Given the description of an element on the screen output the (x, y) to click on. 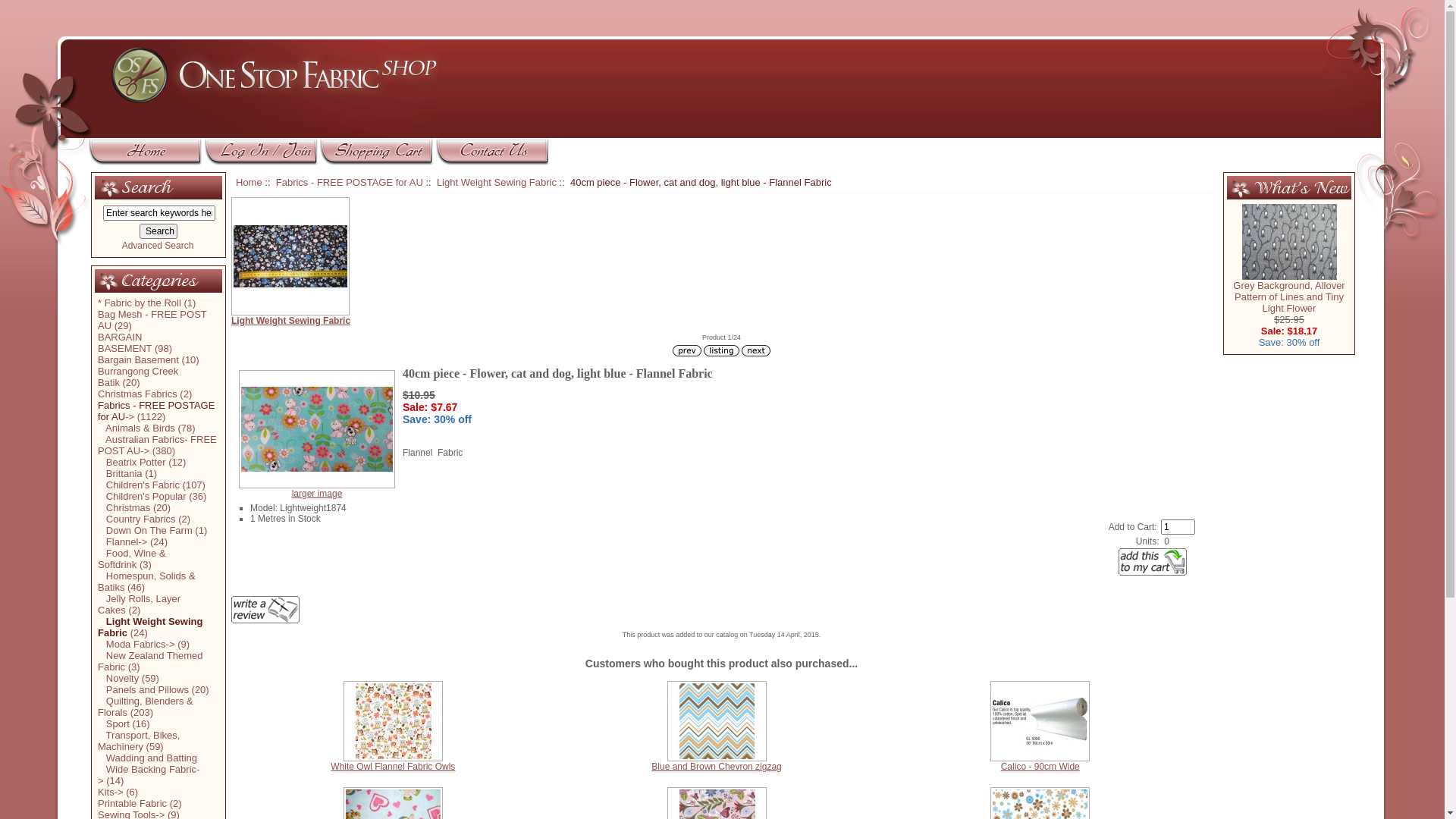
   Food, Wine & Softdrink Element type: text (131, 558)
 Add to Cart  Element type: hover (1152, 561)
   Beatrix Potter Element type: text (131, 461)
 Blue and Brown Chevron zigzag  Element type: hover (716, 720)
Search Element type: text (158, 230)
   Wide Backing Fabric-> Element type: text (148, 774)
   New Zealand Themed Fabric Element type: text (150, 660)
   Moda Fabrics-> Element type: text (136, 643)
Advanced Search Element type: text (158, 245)
Light Weight Sewing Fabric Element type: text (721, 261)
   Animals & Birds Element type: text (136, 427)
   Australian Fabrics- FREE POST AU-> Element type: text (156, 444)
   Transport, Bikes, Machinery Element type: text (138, 740)
   Brittania Element type: text (119, 473)
 Calico - 90cm Wide  Element type: hover (1039, 720)
Bag Mesh - FREE POST AU Element type: text (152, 319)
Kits-> Element type: text (110, 791)
   Panels and Pillows Element type: text (142, 689)
 What's New  Element type: hover (1288, 187)
 Previous  Element type: hover (686, 350)
   Jelly Rolls, Layer Cakes Element type: text (138, 604)
 White Owl Flannel Fabric Owls  Element type: hover (392, 720)
 Light Weight Sewing Fabric  Element type: hover (290, 256)
Fabrics - FREE POSTAGE for AU-> Element type: text (155, 410)
 Next  Element type: hover (755, 350)
Printable Fabric Element type: text (131, 803)
   Children's Popular Element type: text (141, 496)
   Children's Fabric Element type: text (138, 484)
larger image Element type: text (316, 493)
Bargain Basement Element type: text (137, 359)
 Categories  Element type: hover (147, 280)
   Light Weight Sewing Fabric Element type: text (149, 626)
* Fabric by the Roll Element type: text (139, 302)
   Country Fabrics Element type: text (136, 518)
Christmas Fabrics Element type: text (137, 393)
   Sport Element type: text (113, 723)
 Write Review  Element type: hover (265, 609)
Home Element type: text (248, 182)
   Novelty Element type: text (117, 678)
   Down On The Farm Element type: text (144, 530)
BARGAIN BASEMENT Element type: text (124, 342)
 Search  Element type: hover (135, 187)
Light Weight Sewing Fabric Element type: text (496, 182)
White Owl Flannel Fabric Owls Element type: text (392, 766)
Calico - 90cm Wide Element type: text (1040, 766)
   Quilting, Blenders & Florals Element type: text (145, 706)
   Christmas Element type: text (123, 507)
   Flannel-> Element type: text (122, 541)
 Return to the Product List  Element type: hover (721, 350)
Fabrics - FREE POSTAGE for AU Element type: text (349, 182)
   Homespun, Solids & Batiks Element type: text (146, 581)
Burrangong Creek Batik Element type: text (137, 376)
   Wadding and Batting Element type: text (147, 757)
Blue and Brown Chevron zigzag Element type: text (716, 766)
